Given the description of an element on the screen output the (x, y) to click on. 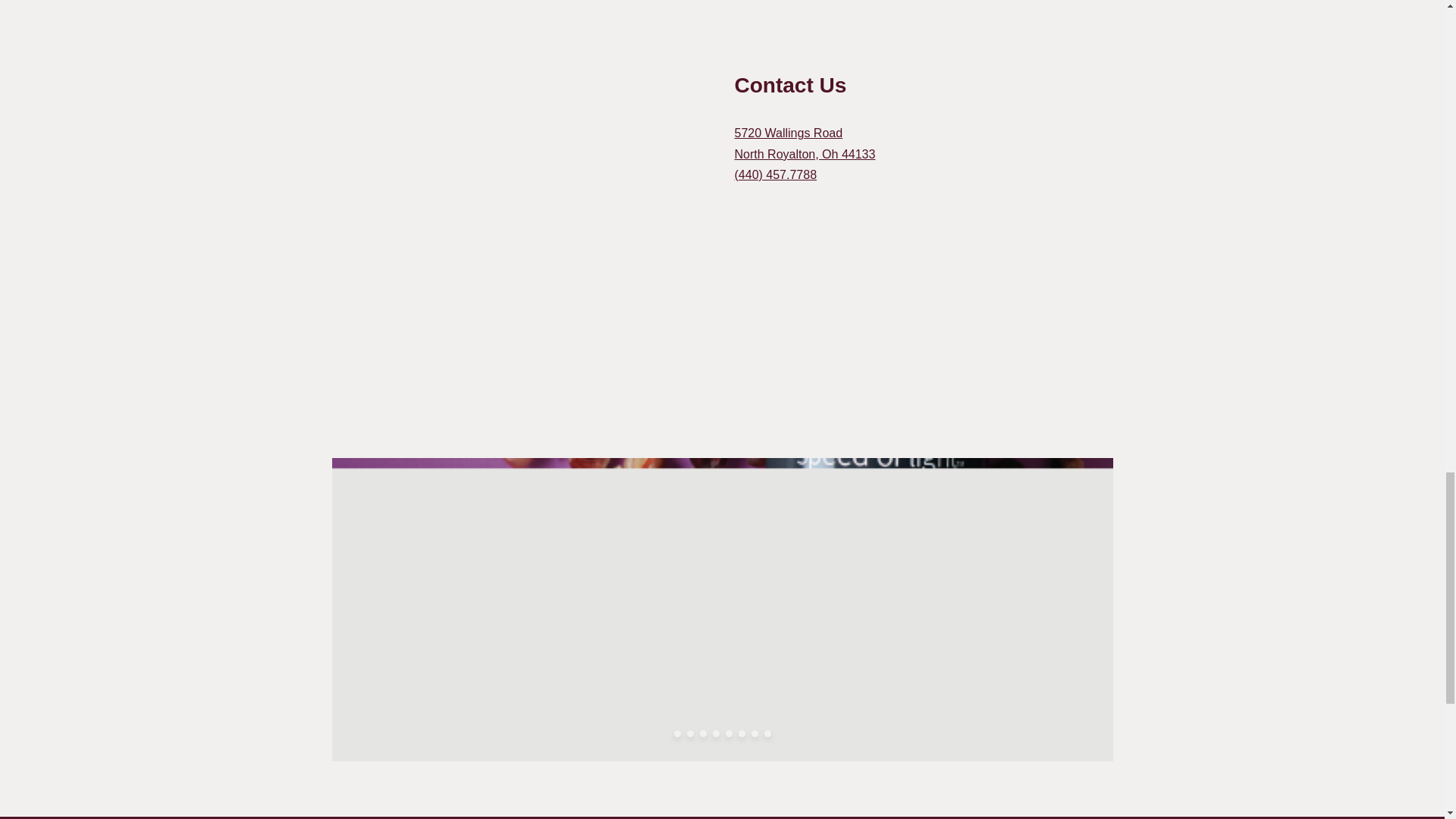
Google Map (804, 142)
